Given the description of an element on the screen output the (x, y) to click on. 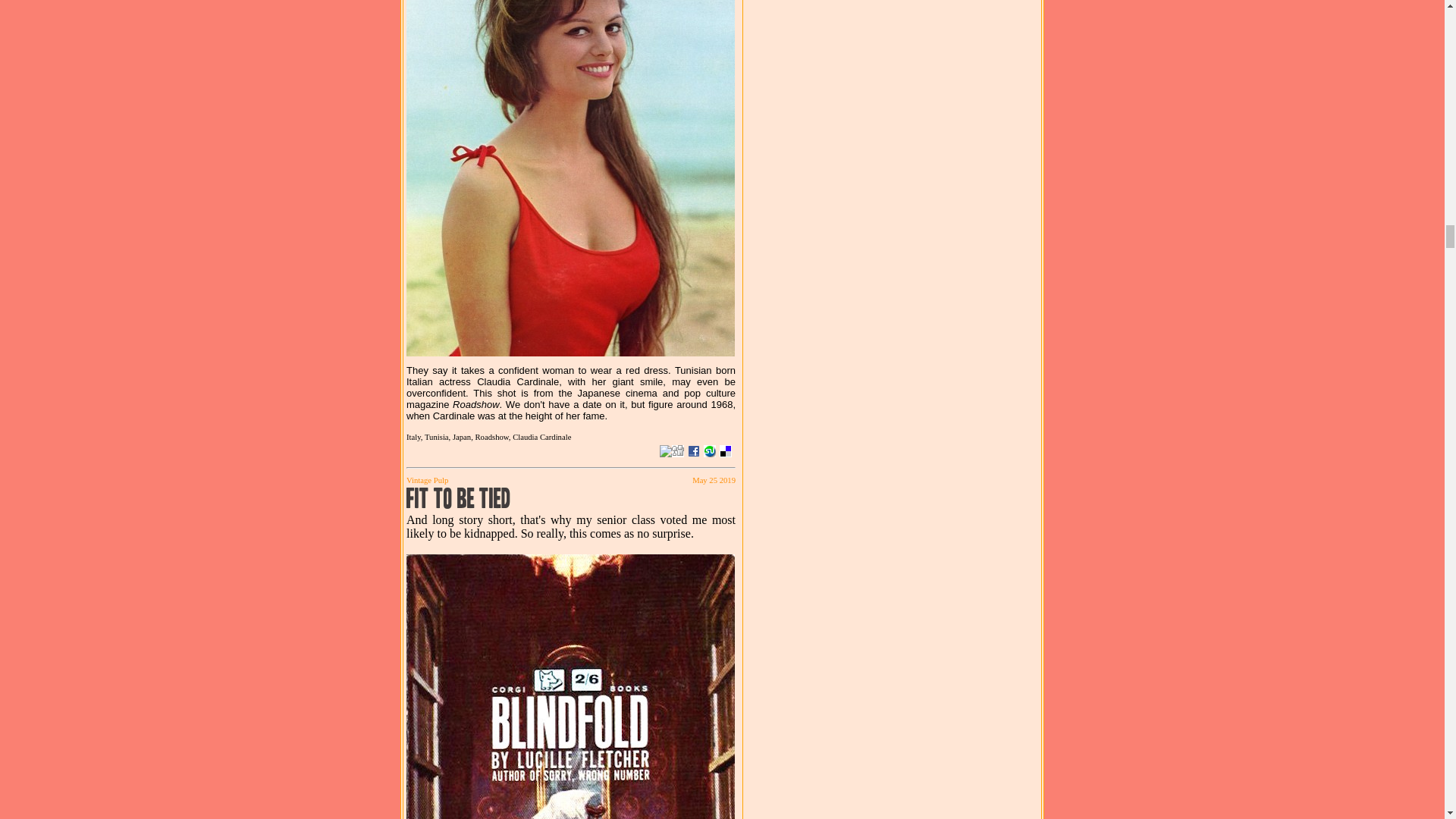
Share this on Facebook (693, 451)
Bookmark this on Delicious (725, 451)
digg:Late 1960s promo photo of Claudia Cardinale (677, 451)
StumbleUpon:Late 1960s promo photo of Claudia Cardinale (709, 451)
